Given the description of an element on the screen output the (x, y) to click on. 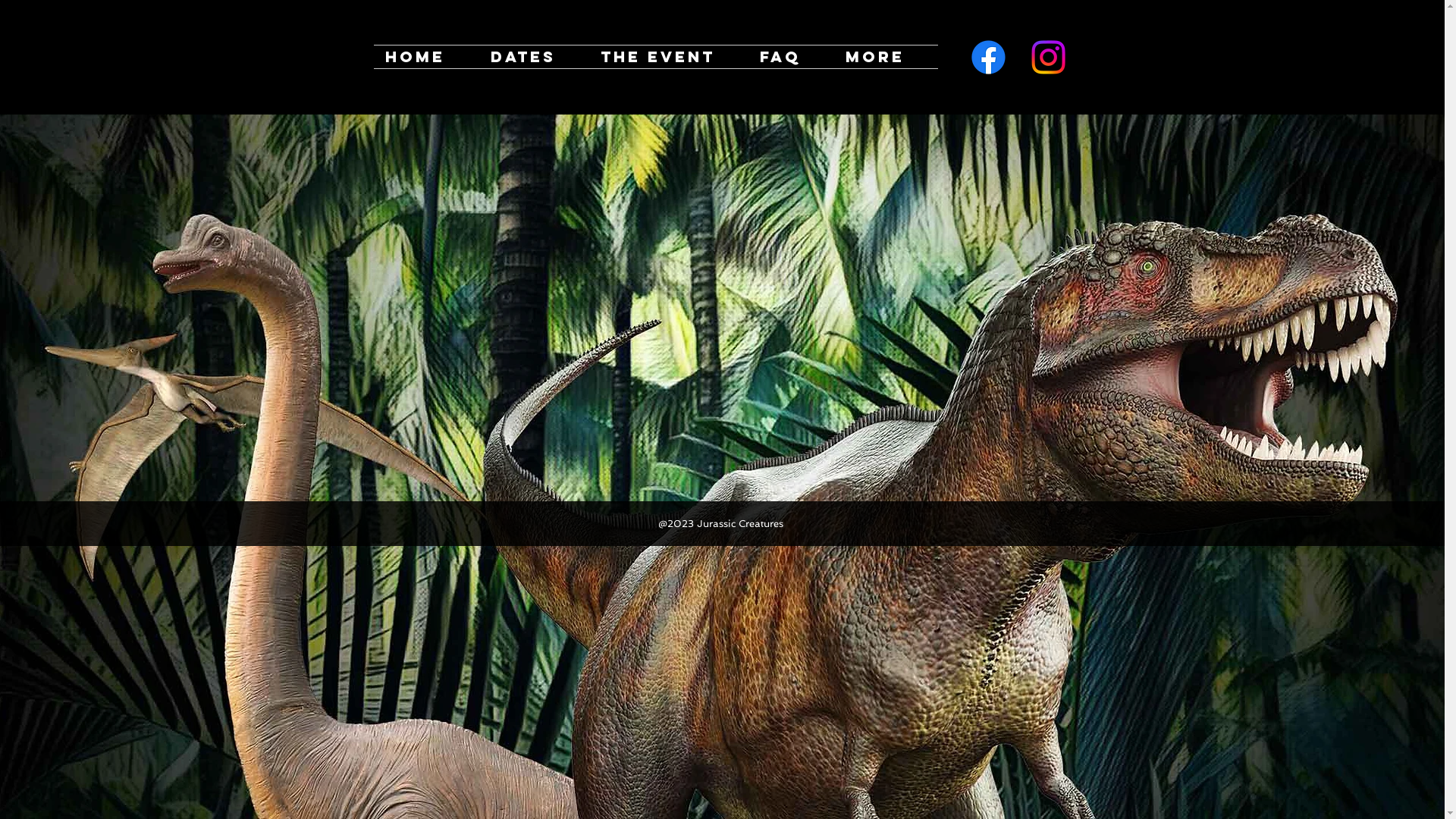
FAQ Element type: text (790, 56)
Dates Element type: text (534, 56)
Home Element type: text (425, 56)
The Event Element type: text (667, 56)
